Given the description of an element on the screen output the (x, y) to click on. 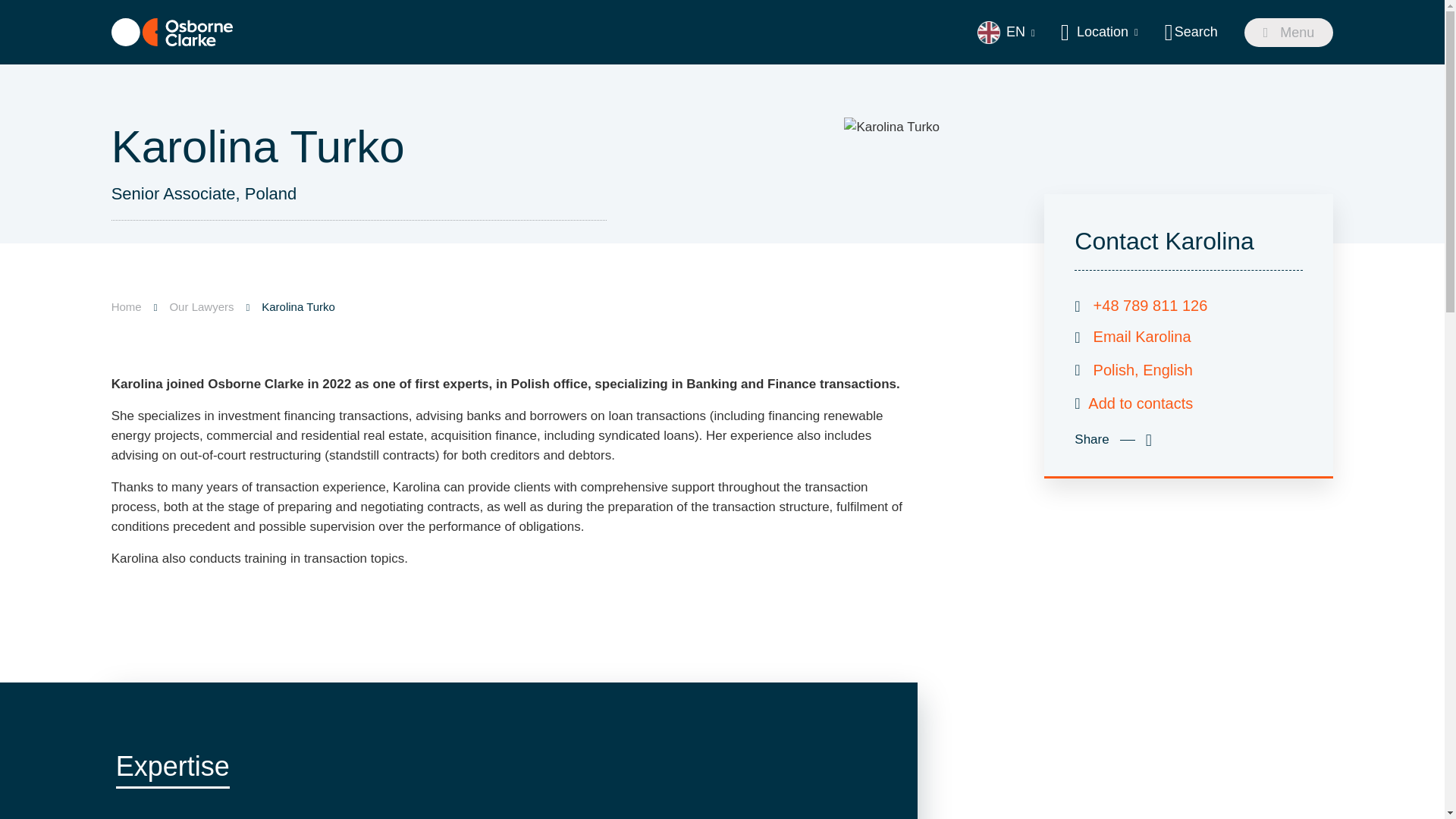
Menu (1288, 32)
Osborne Clarke (172, 32)
